Given the description of an element on the screen output the (x, y) to click on. 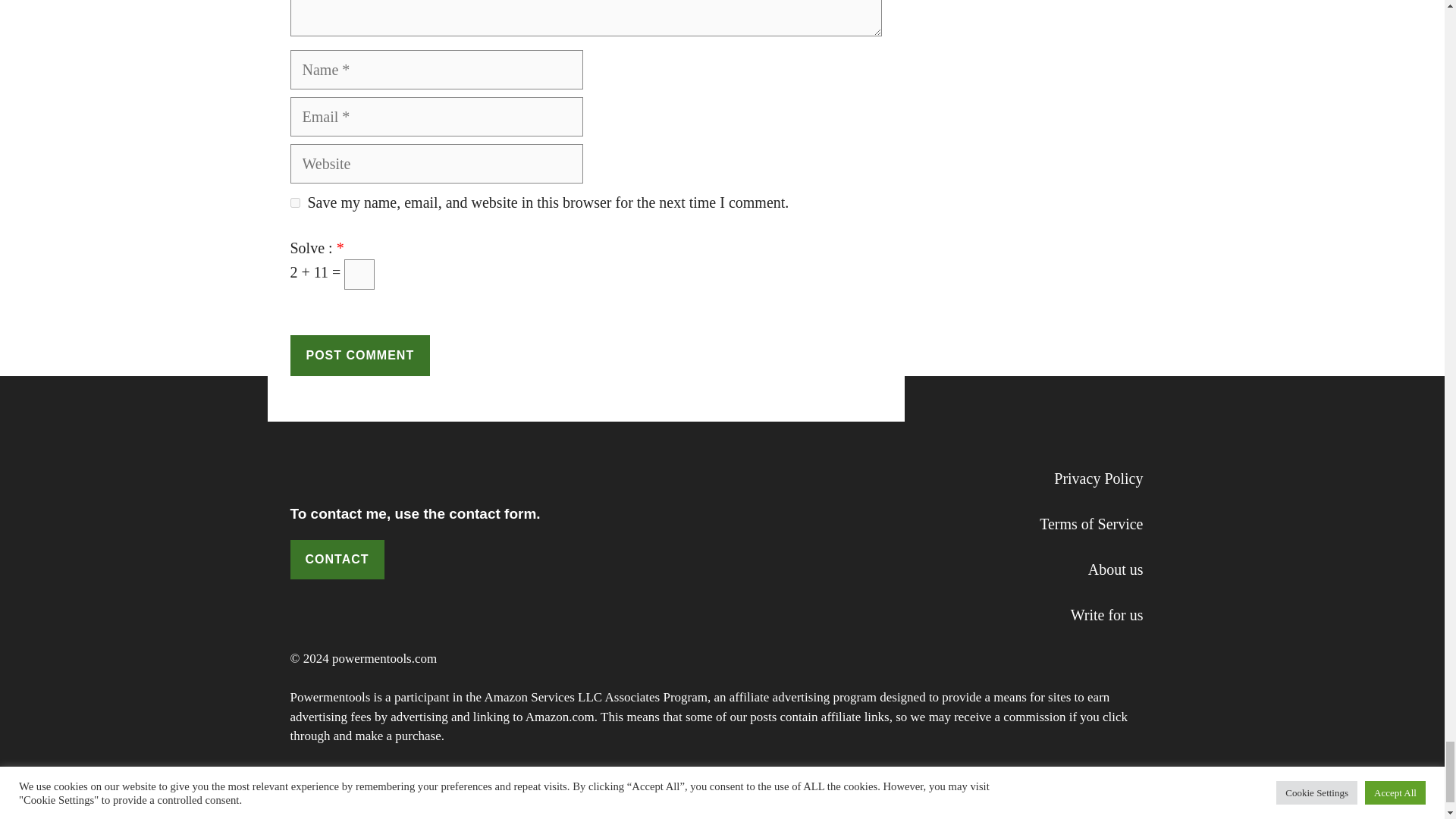
yes (294, 203)
Post Comment (359, 354)
